Given the description of an element on the screen output the (x, y) to click on. 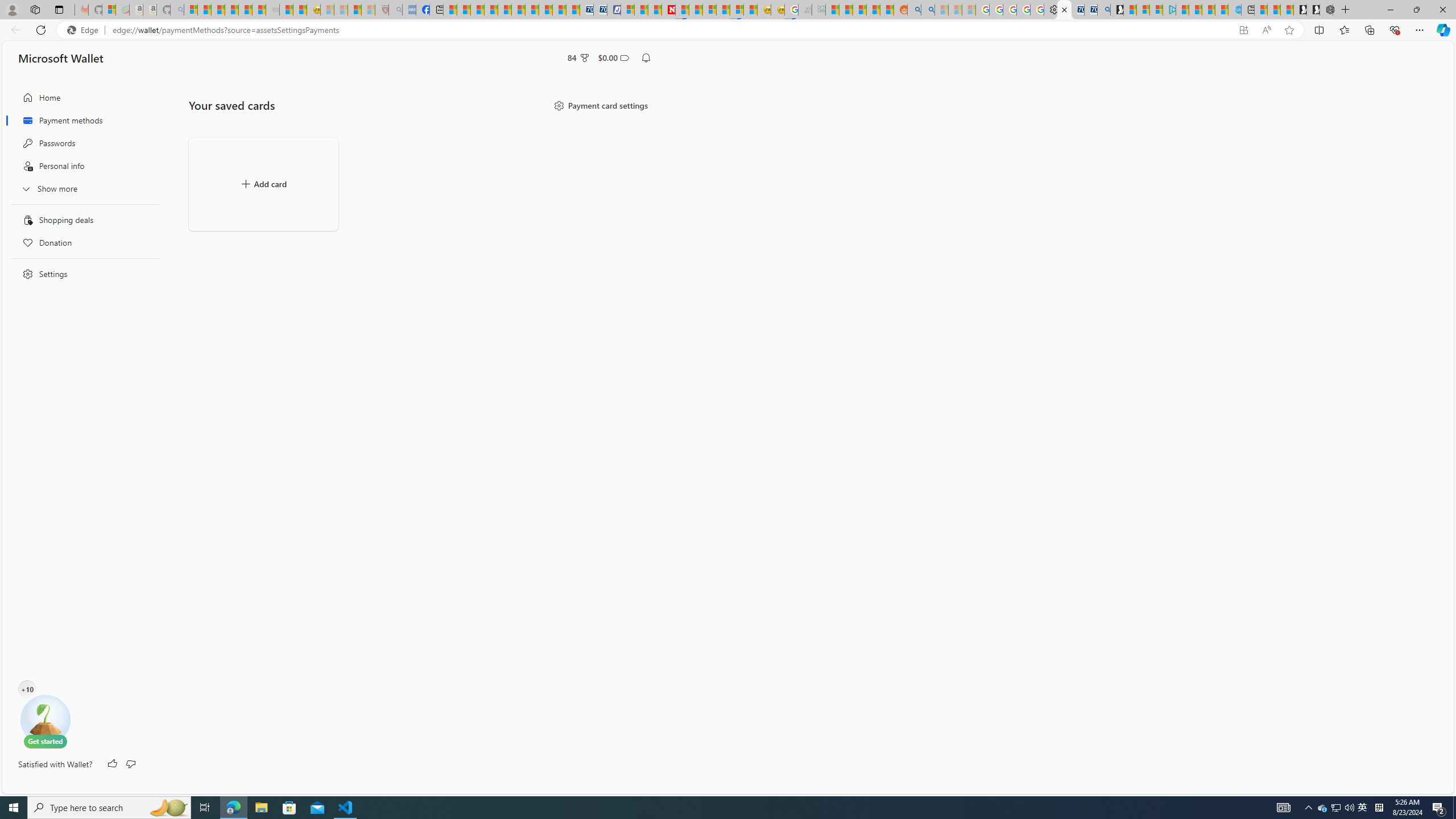
Payment methods (81, 120)
Class: ___1lmltc5 f1agt3bx f12qytpq (624, 57)
Like (112, 764)
